Given the description of an element on the screen output the (x, y) to click on. 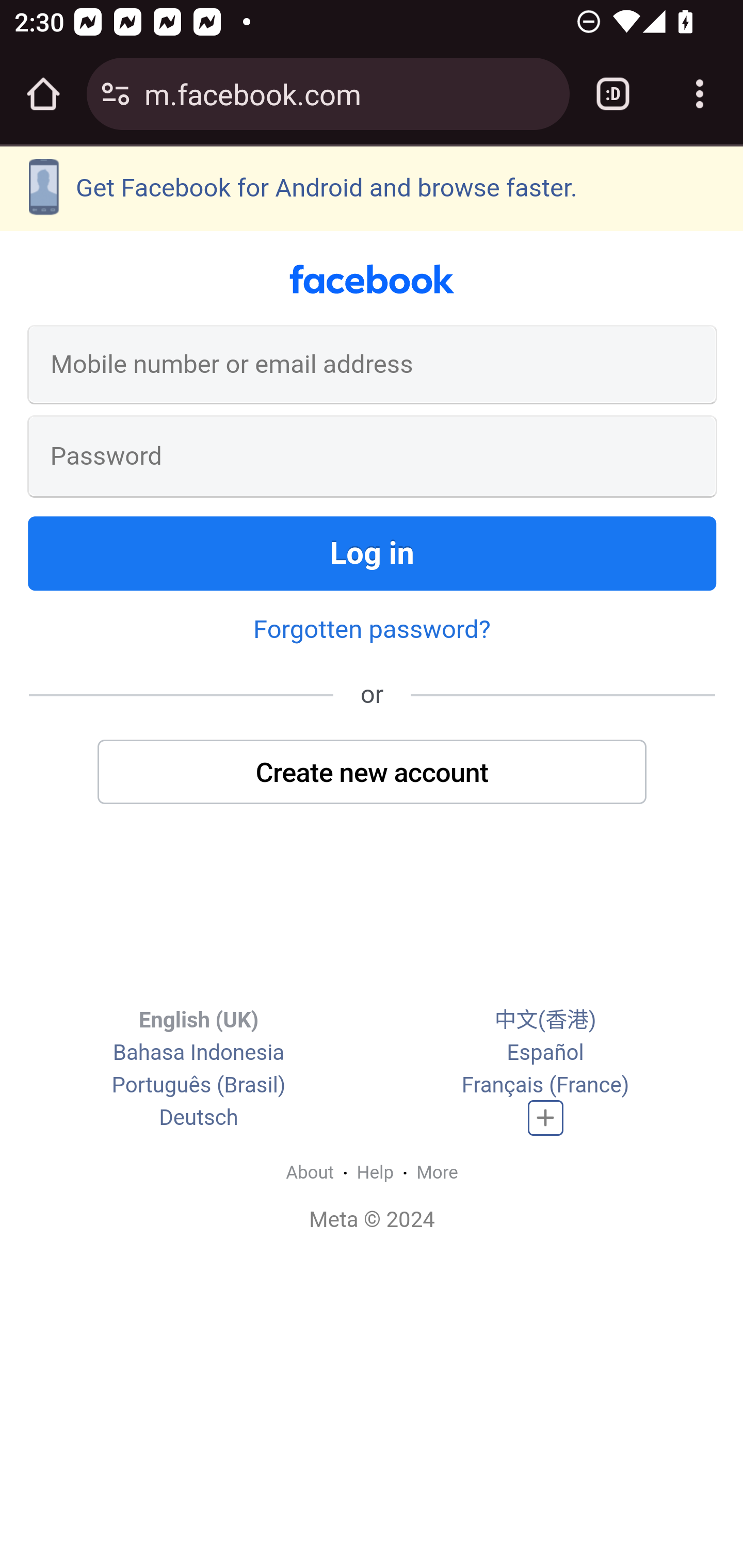
Open the home page (43, 93)
Connection is secure (115, 93)
Switch or close tabs (612, 93)
Customize and control Google Chrome (699, 93)
m.facebook.com (349, 92)
Get Facebook for Android and browse faster. (371, 188)
facebook (372, 279)
Log in (372, 552)
Forgotten password? (371, 628)
Create new account (372, 771)
中文(香港) (544, 1020)
Bahasa Indonesia (198, 1052)
Español (545, 1052)
Português (Brasil) (197, 1085)
Français (France) (544, 1085)
Complete list of languages (545, 1117)
Deutsch (198, 1118)
About (310, 1171)
Help (375, 1171)
